Given the description of an element on the screen output the (x, y) to click on. 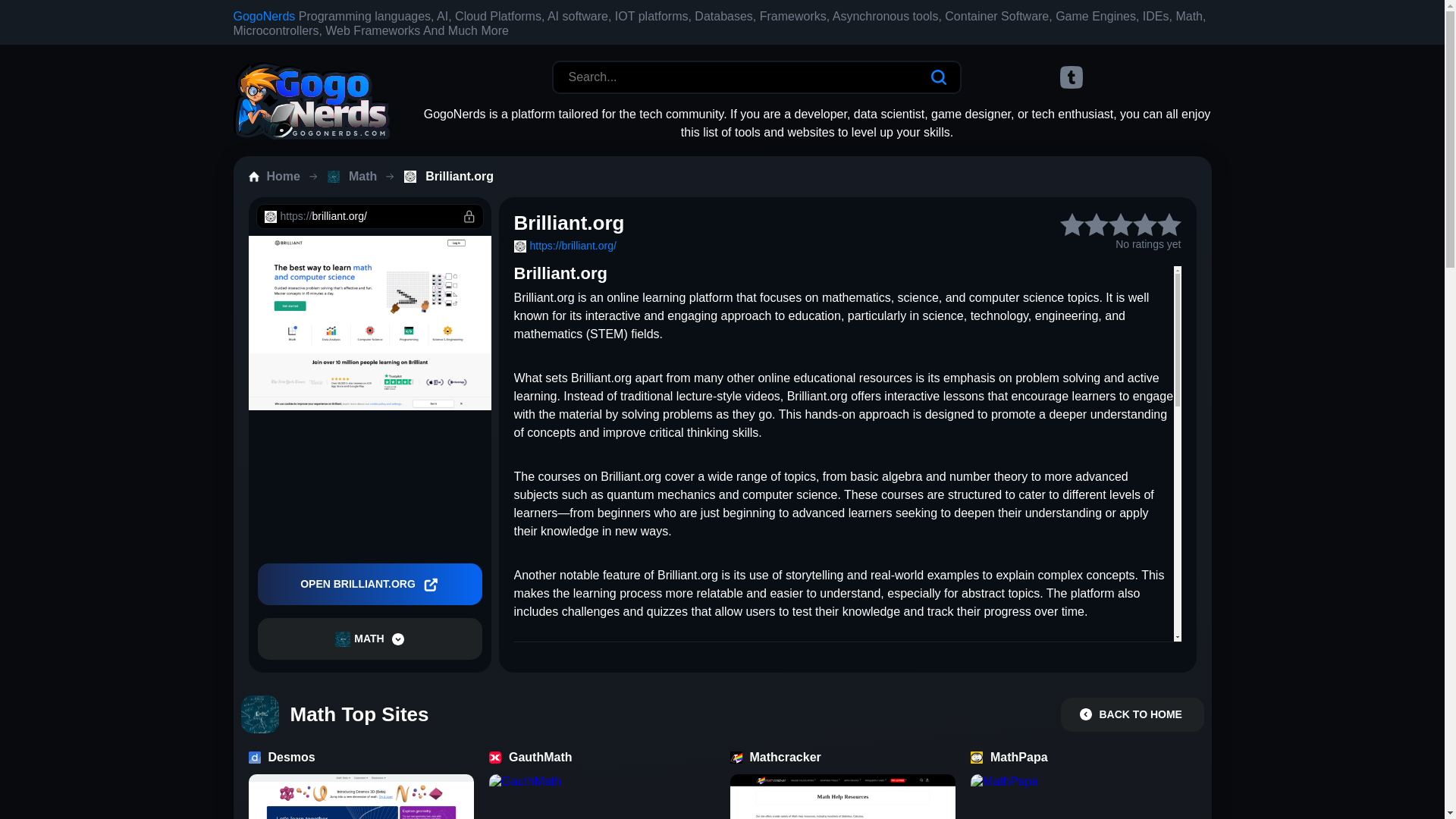
MATH (369, 639)
Home (283, 176)
Math (360, 176)
BACK TO HOME (1131, 714)
GogoNerds (263, 15)
OPEN BRILLIANT.ORG (369, 584)
